Given the description of an element on the screen output the (x, y) to click on. 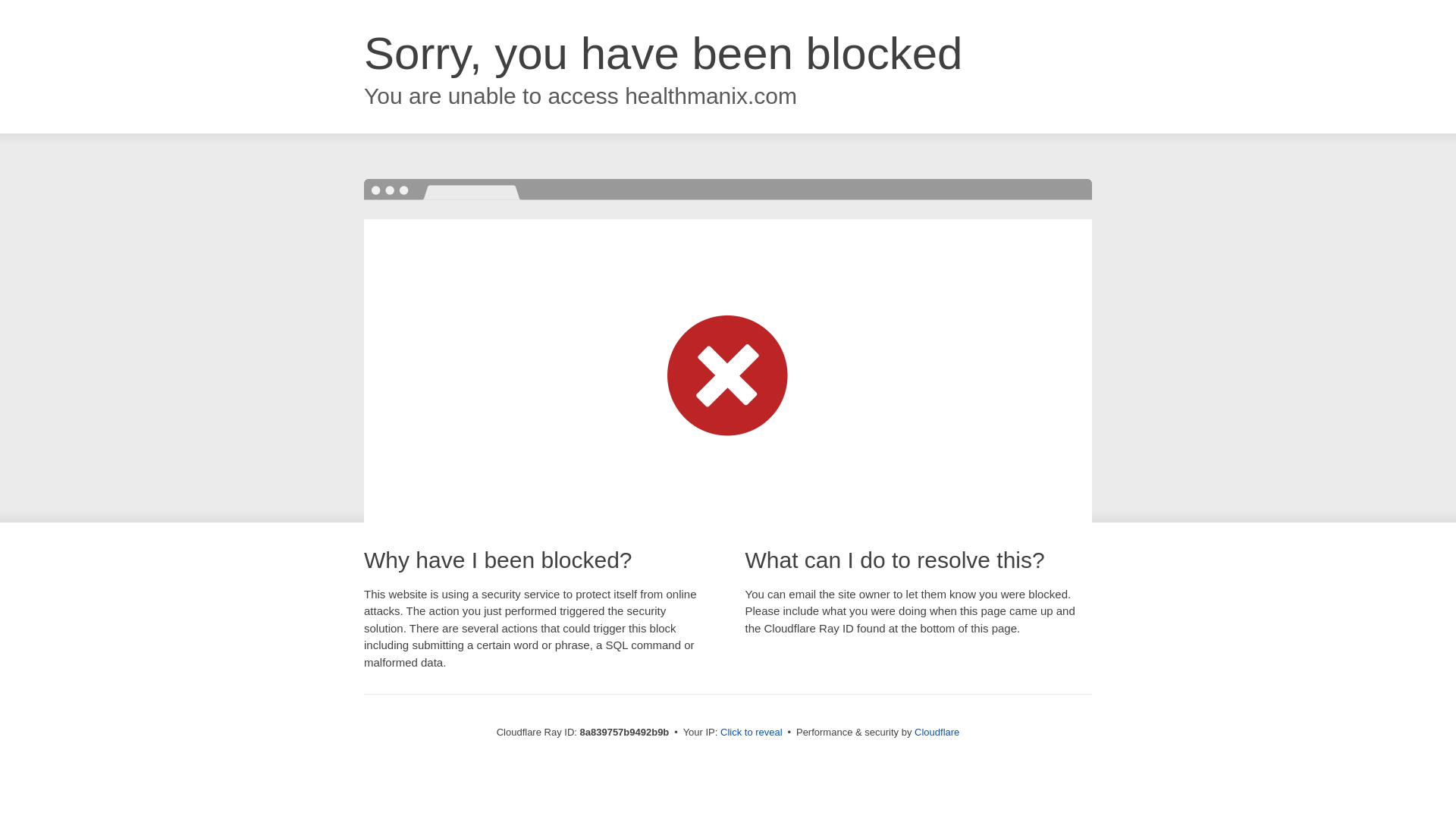
Click to reveal (751, 732)
Cloudflare (936, 731)
